Given the description of an element on the screen output the (x, y) to click on. 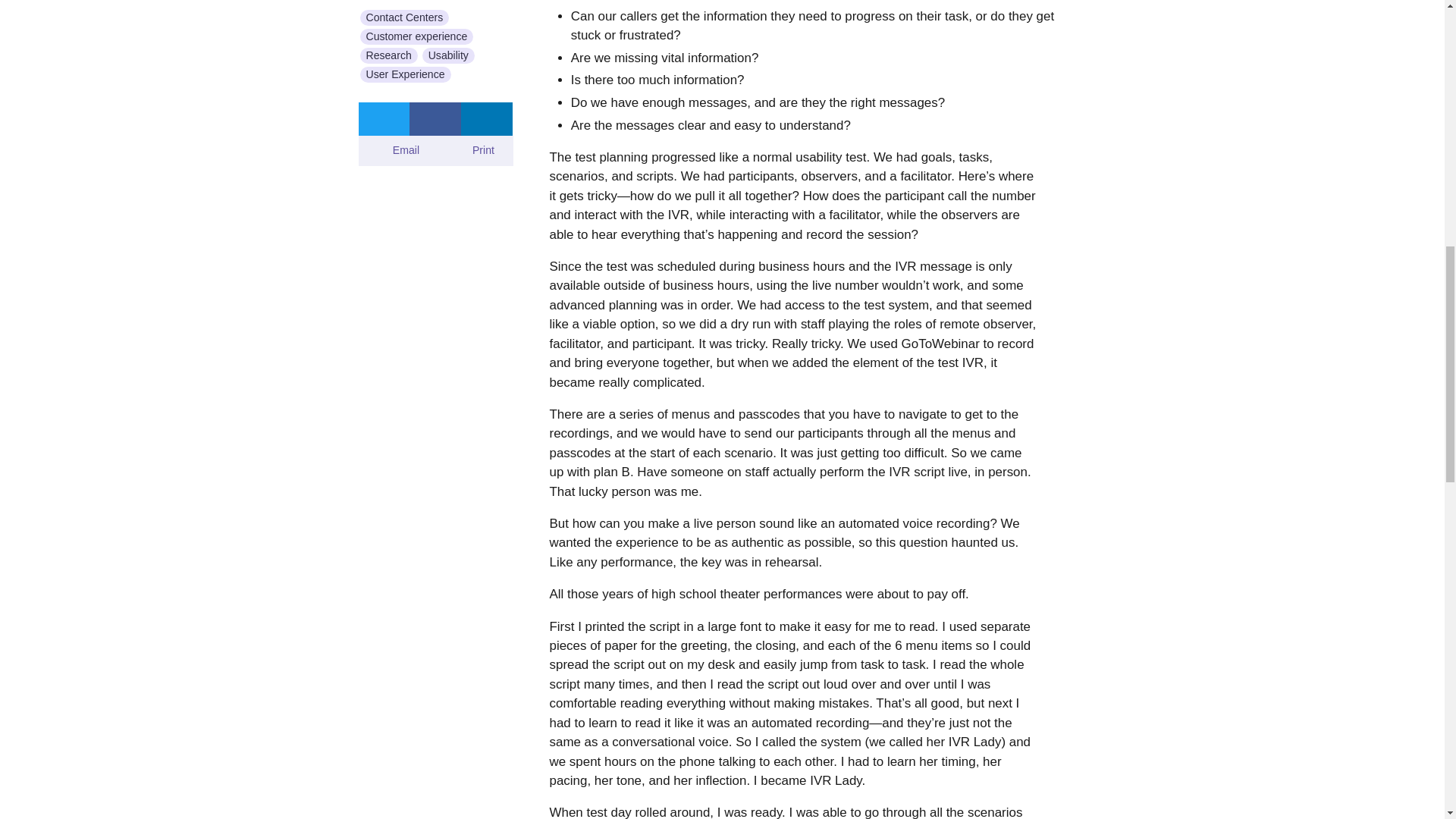
Print (473, 150)
Contact Centers (403, 17)
Usability (448, 55)
Email (396, 150)
User Experience (404, 74)
Email this page (396, 150)
Research (387, 55)
Customer experience (416, 36)
